Given the description of an element on the screen output the (x, y) to click on. 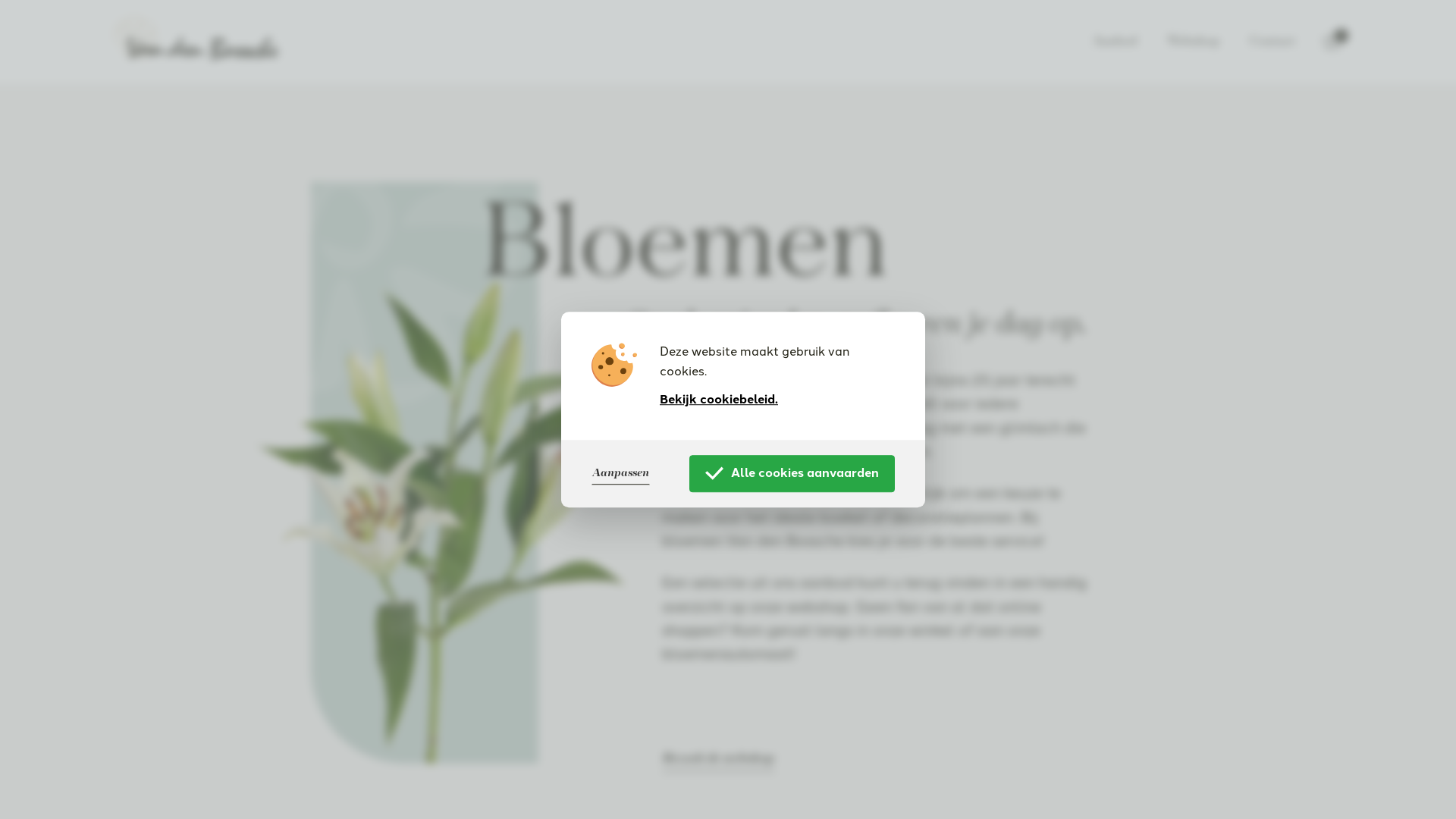
0 Element type: text (1332, 41)
Contact Element type: text (1272, 41)
Alle cookies aanvaarden Element type: text (791, 473)
Webshop Element type: text (1192, 41)
Aanpassen Element type: text (620, 472)
Bezoek de webshop Element type: text (718, 758)
Bekijk cookiebeleid. Element type: text (718, 399)
